Given the description of an element on the screen output the (x, y) to click on. 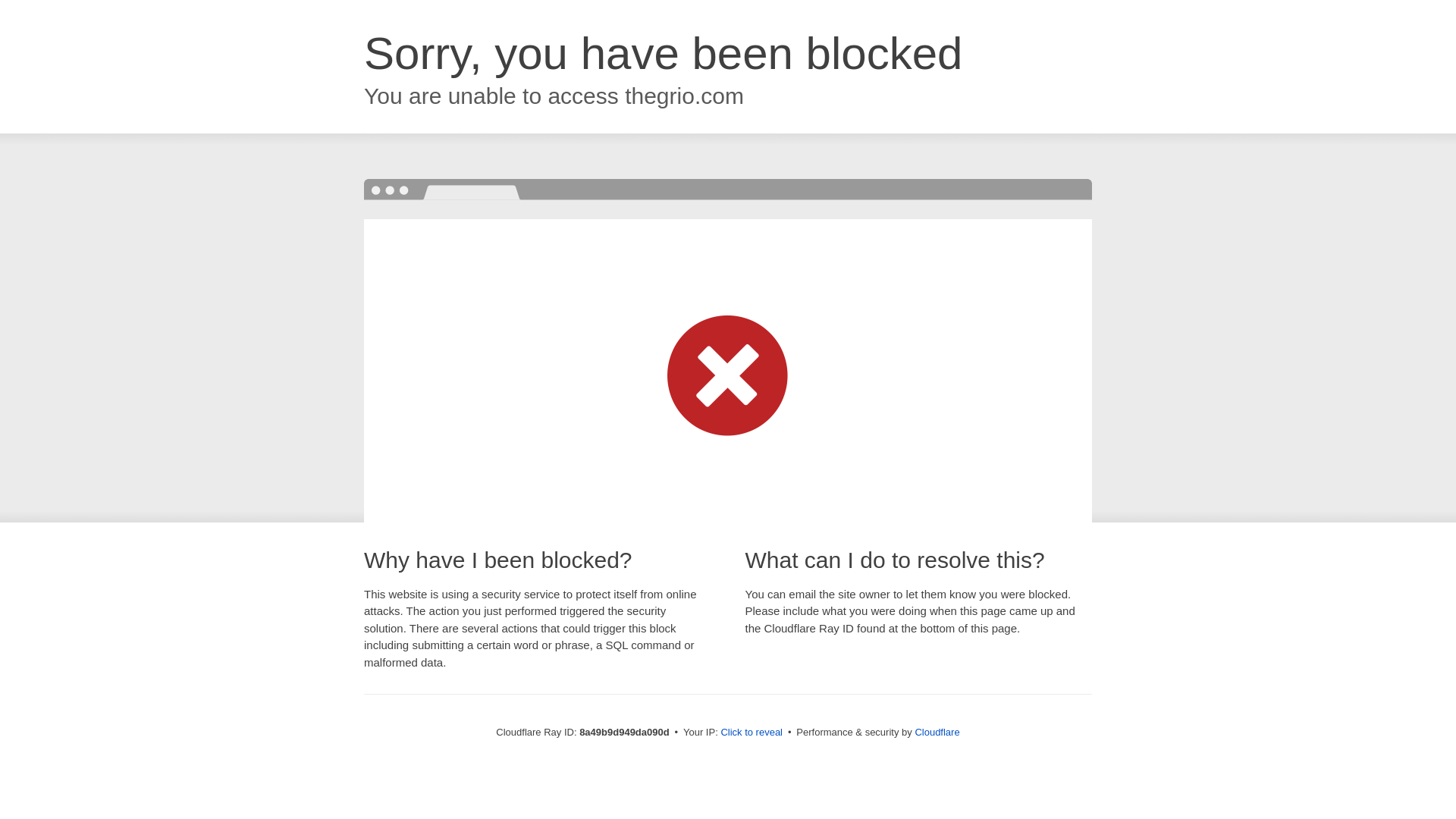
Click to reveal (751, 732)
Cloudflare (936, 731)
